Given the description of an element on the screen output the (x, y) to click on. 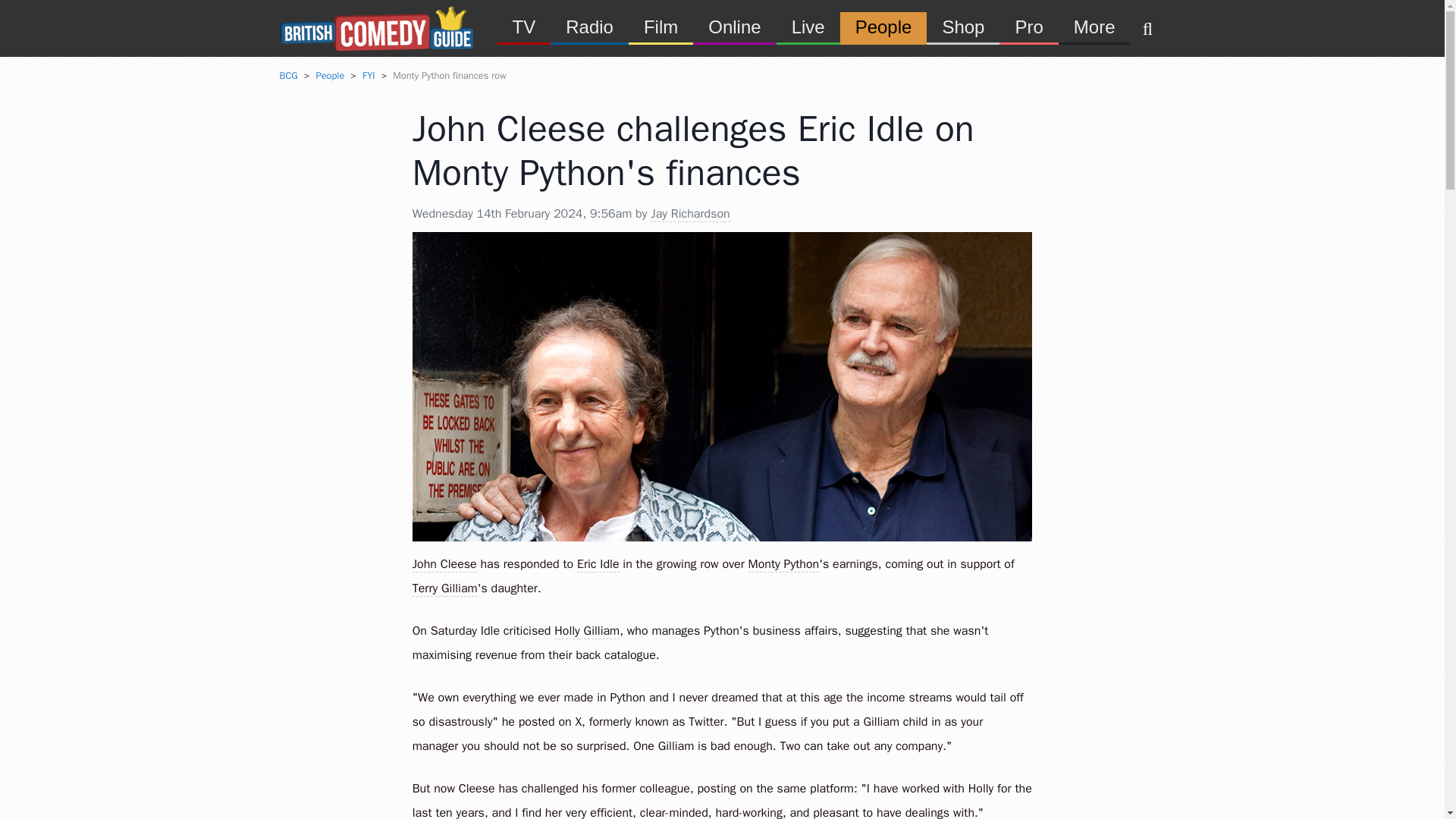
Jay Richardson (689, 213)
Monty Python profile (783, 564)
Shop (962, 26)
Eric Idle profile (598, 564)
BCG (288, 75)
People (883, 26)
Radio (589, 26)
John Cleese (444, 564)
John Cleese profile (444, 564)
Terry Gilliam (444, 588)
Live (808, 26)
TV (524, 26)
Film (660, 26)
Pro (1028, 26)
Online (734, 26)
